Given the description of an element on the screen output the (x, y) to click on. 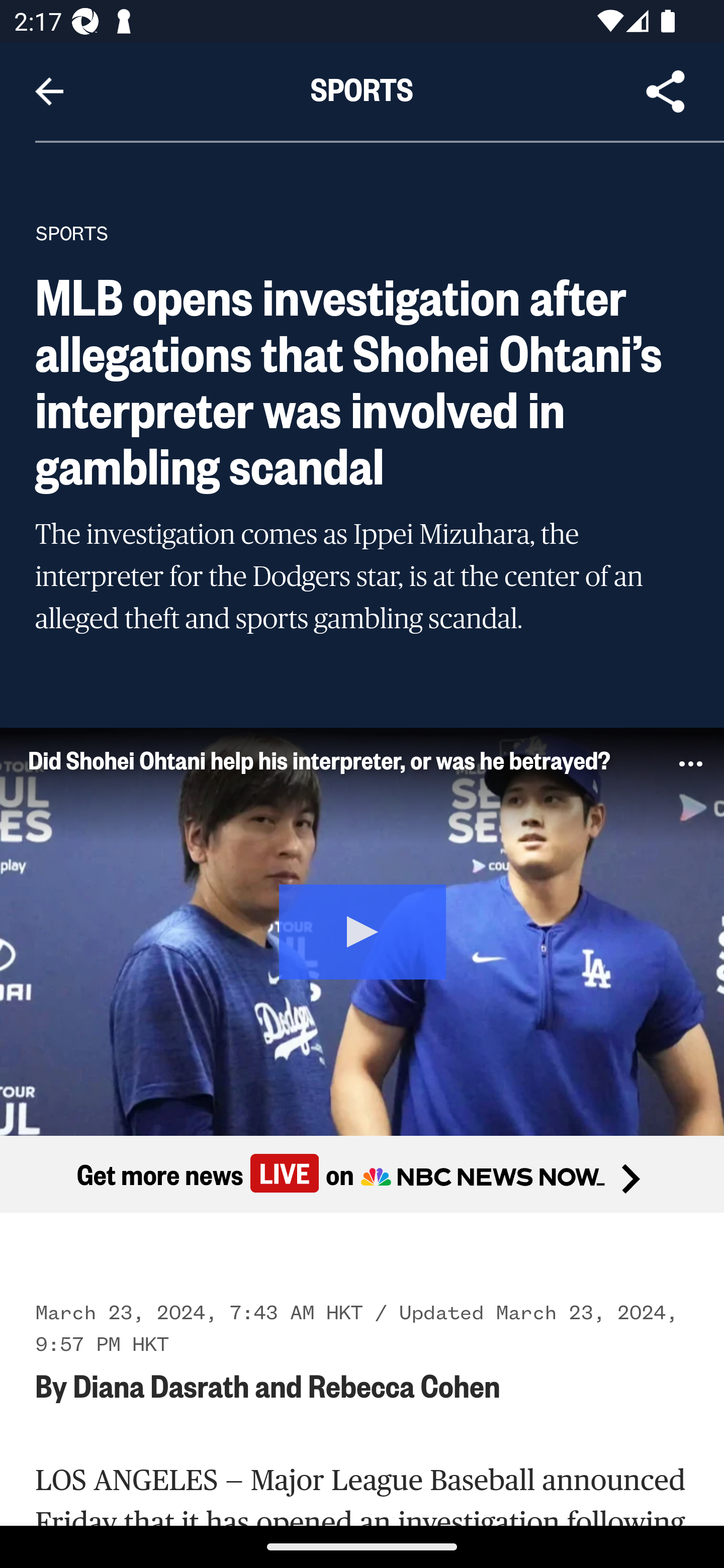
Navigate up (49, 91)
Share Article, button (665, 91)
Play (362, 930)
Play (362, 929)
Get more news Live on Get more news Live on (362, 1173)
Diana Dasrath (160, 1384)
Rebecca Cohen (403, 1384)
